Given the description of an element on the screen output the (x, y) to click on. 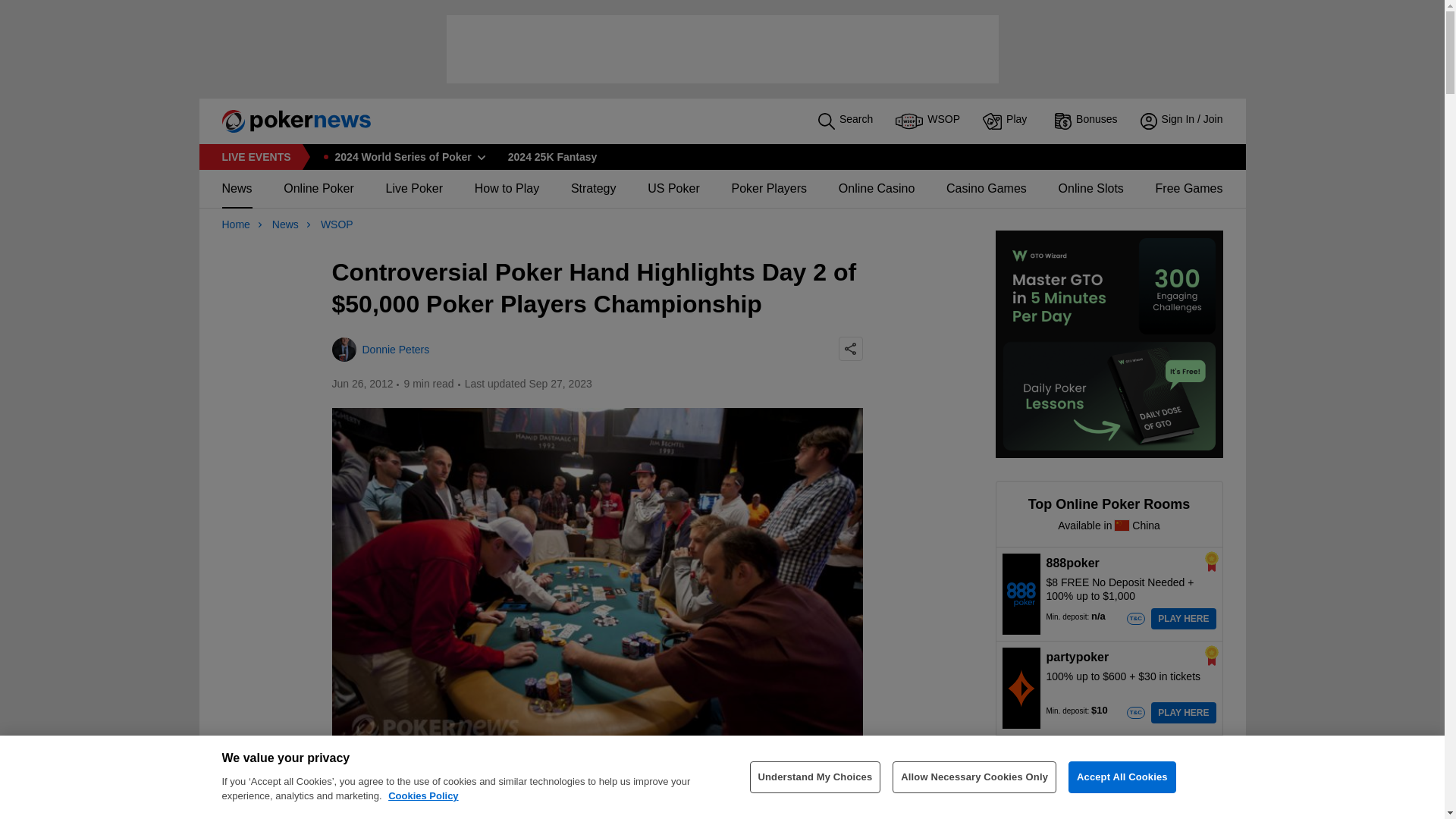
partypoker (1022, 687)
888poker (1022, 593)
WSOP (927, 121)
Poker News (289, 121)
Play (1007, 121)
bet365 Poker (1022, 781)
 2024 25K Fantasy (552, 156)
2024 25K Fantasy (552, 156)
LIVE EVENTS (255, 156)
